Given the description of an element on the screen output the (x, y) to click on. 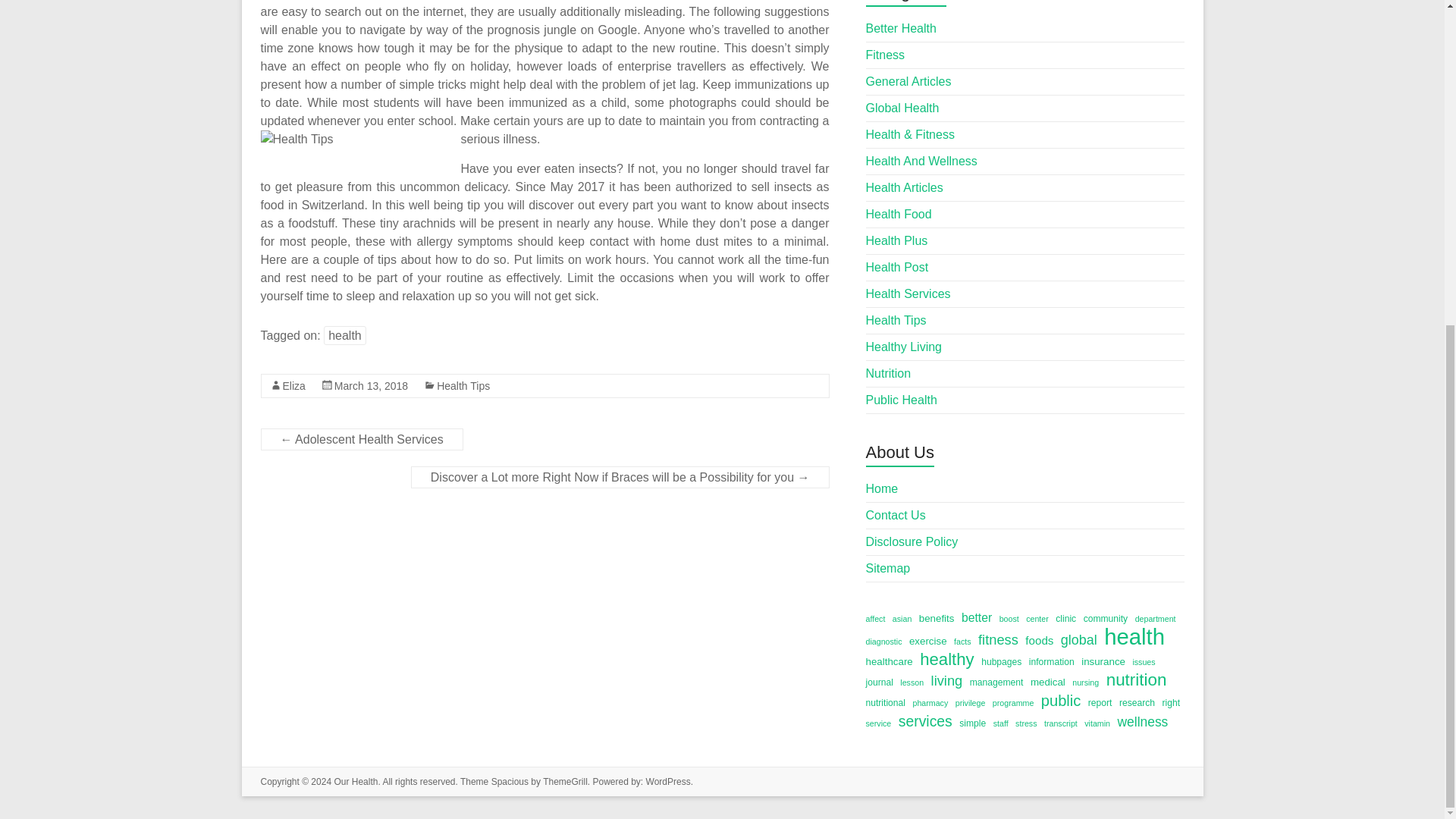
11:40 pm (370, 386)
Health Food (898, 214)
Health And Wellness (921, 160)
Our Health (355, 781)
Better Health (901, 28)
General Articles (909, 81)
health (344, 334)
Global Health (902, 107)
Health Articles (904, 187)
WordPress (668, 781)
Fitness (885, 54)
Health Plus (897, 240)
Health Tips (462, 386)
Eliza (293, 386)
March 13, 2018 (370, 386)
